Given the description of an element on the screen output the (x, y) to click on. 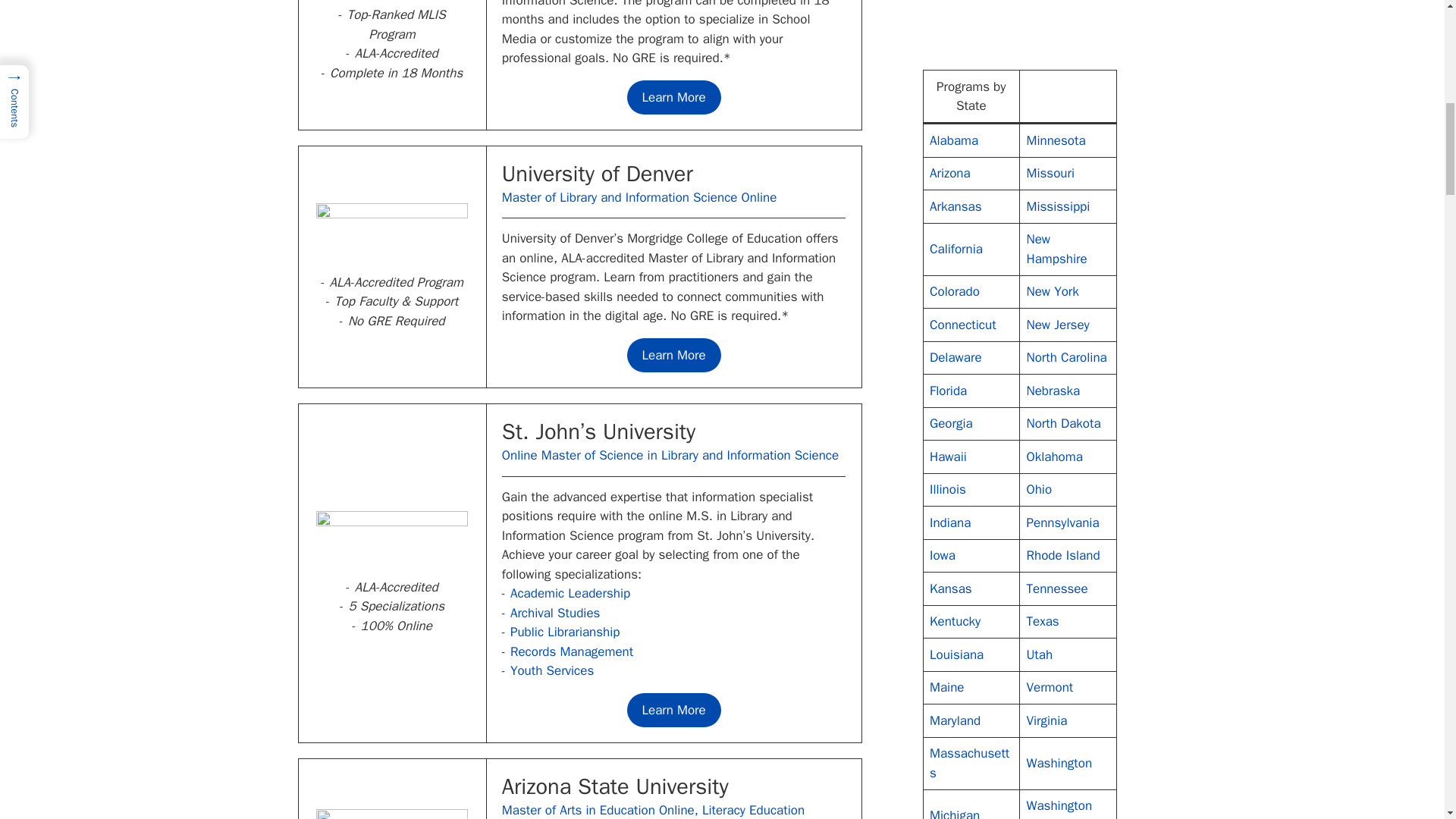
ASU Online Logo New (391, 814)
